Given the description of an element on the screen output the (x, y) to click on. 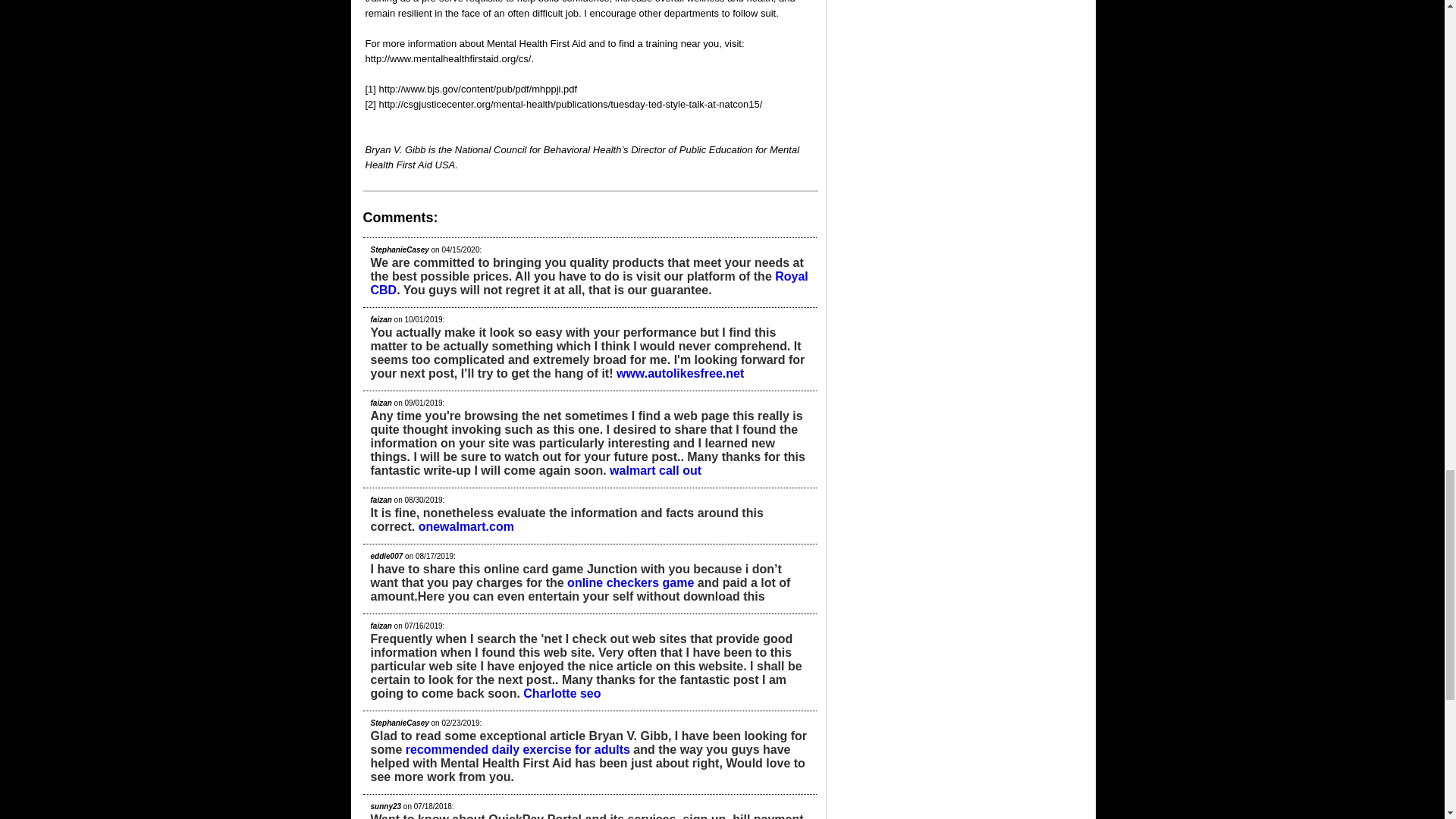
Royal CBD (588, 283)
